Given the description of an element on the screen output the (x, y) to click on. 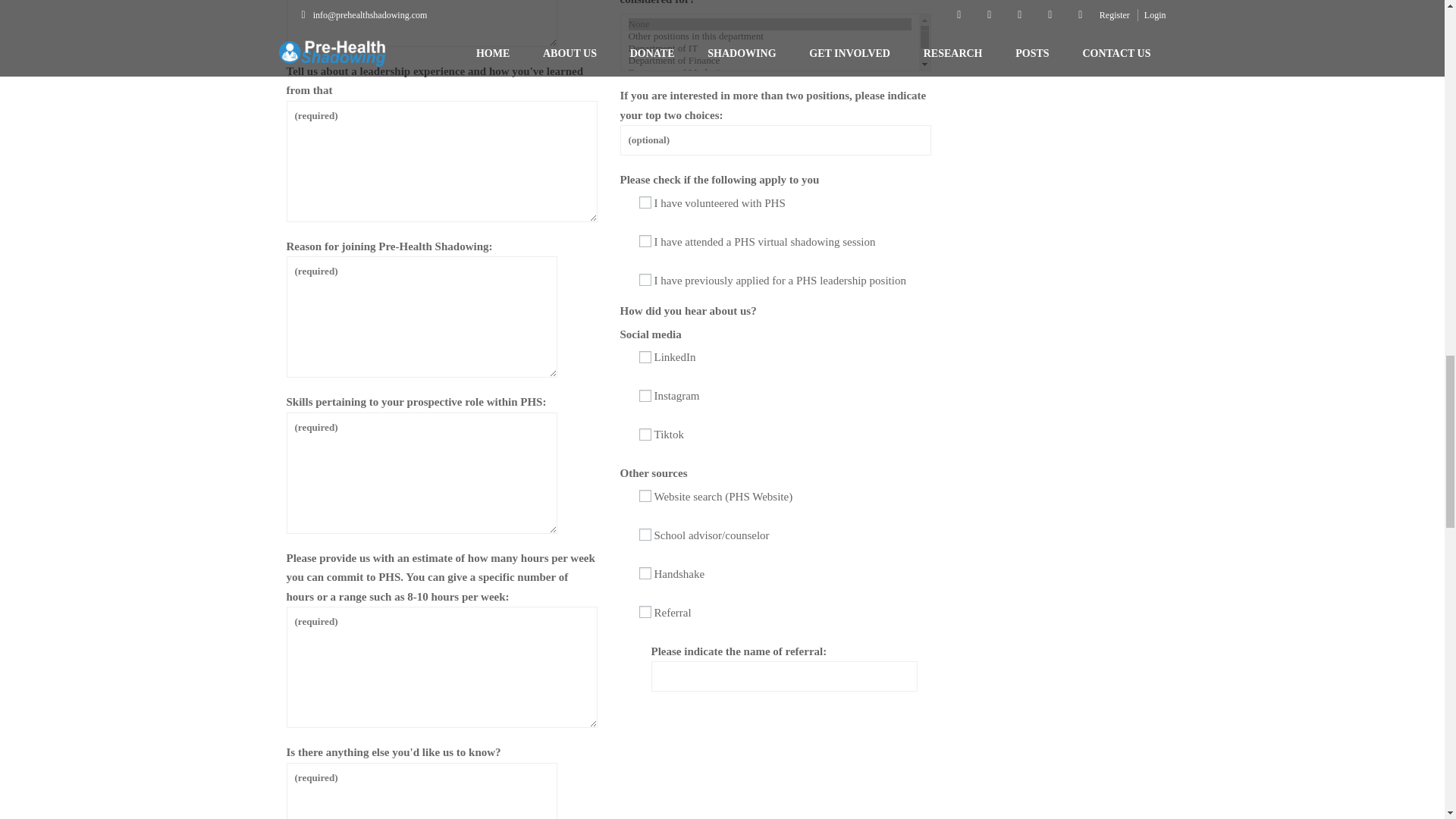
Instagram (644, 395)
Handshake (644, 573)
Tiktok (644, 434)
I have volunteered with PHS (644, 202)
LinkedIn (644, 357)
I have previously applied for a PHS leadership position (644, 279)
I have attended a PHS virtual shadowing session (644, 241)
